Given the description of an element on the screen output the (x, y) to click on. 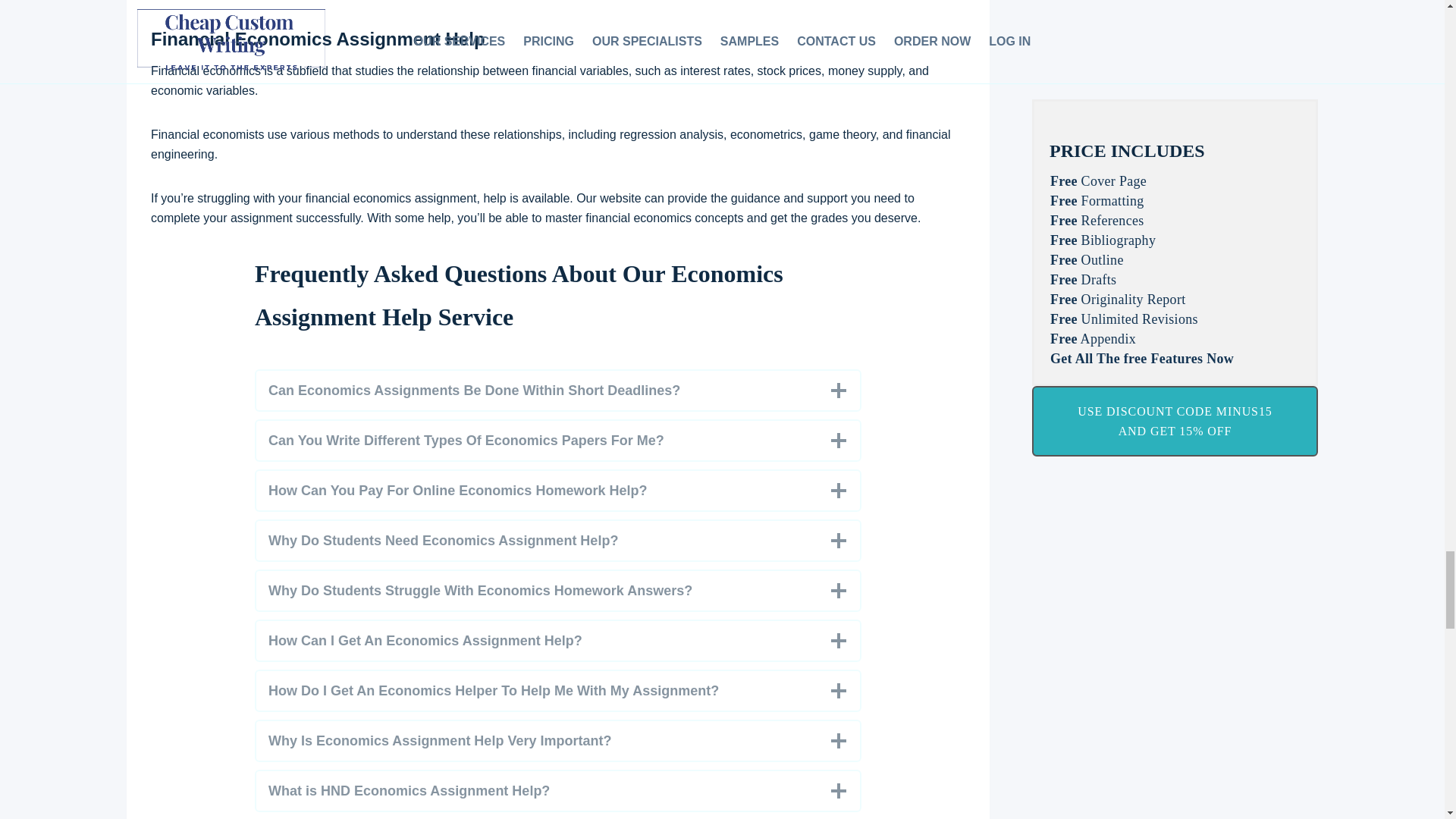
Can Economics Assignments Be Done Within Short Deadlines? (557, 390)
Can You Write Different Types Of Economics Papers For Me? (557, 440)
Why Do Students Need Economics Assignment Help? (557, 540)
What is HND Economics Assignment Help? (557, 790)
Why Do Students Struggle With Economics Homework Answers? (557, 590)
Why Is Economics Assignment Help Very Important? (557, 740)
How Can You Pay For Online Economics Homework Help? (557, 490)
How Can I Get An Economics Assignment Help? (557, 640)
